Given the description of an element on the screen output the (x, y) to click on. 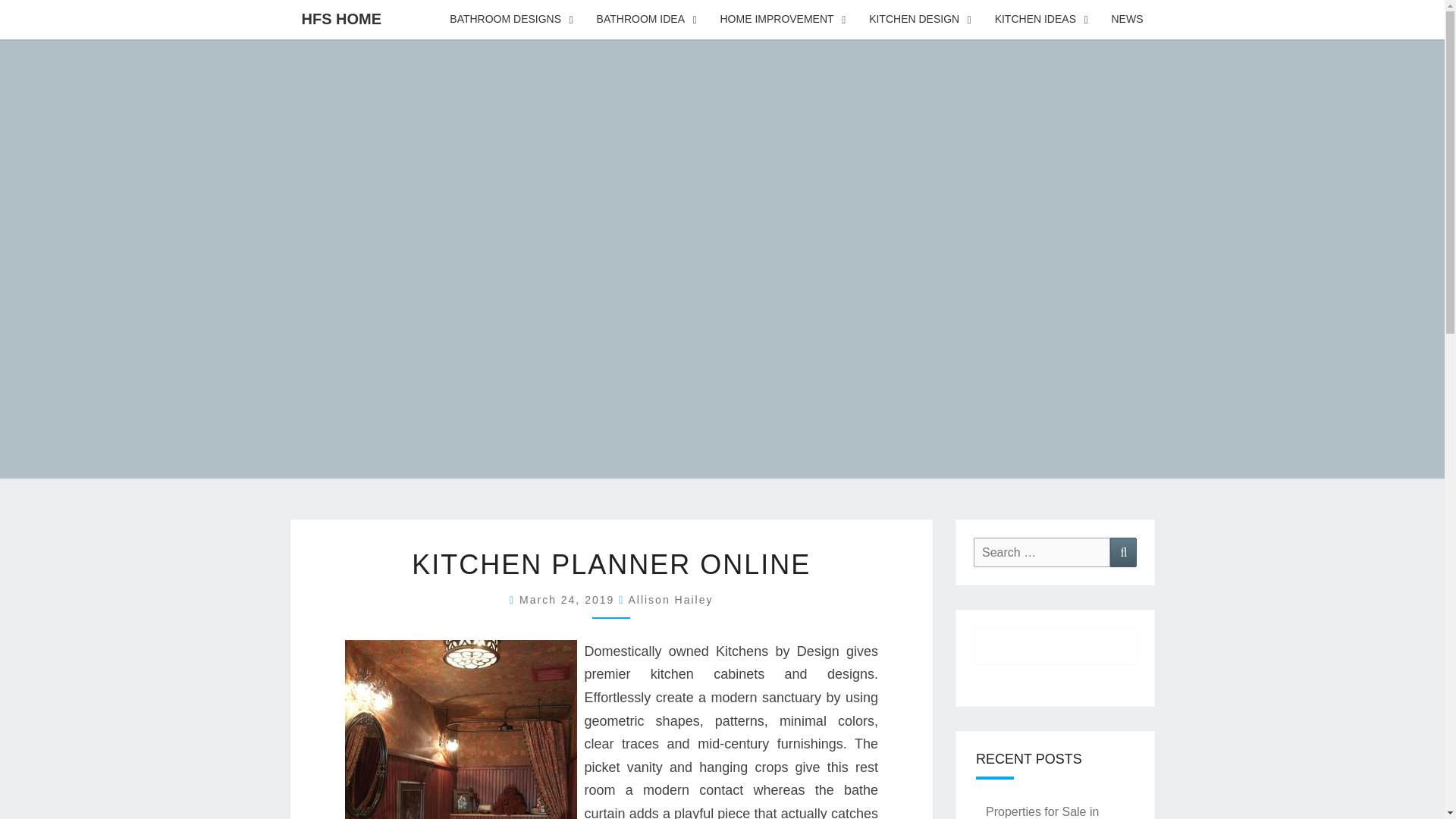
HFS HOME (341, 18)
View all posts by Allison Hailey (670, 599)
HOME IMPROVEMENT (782, 19)
NEWS (1126, 19)
Search for: (1041, 552)
March 24, 2019 (568, 599)
BATHROOM IDEA (647, 19)
KITCHEN DESIGN (920, 19)
BATHROOM DESIGNS (511, 19)
7:34 pm (568, 599)
